Given the description of an element on the screen output the (x, y) to click on. 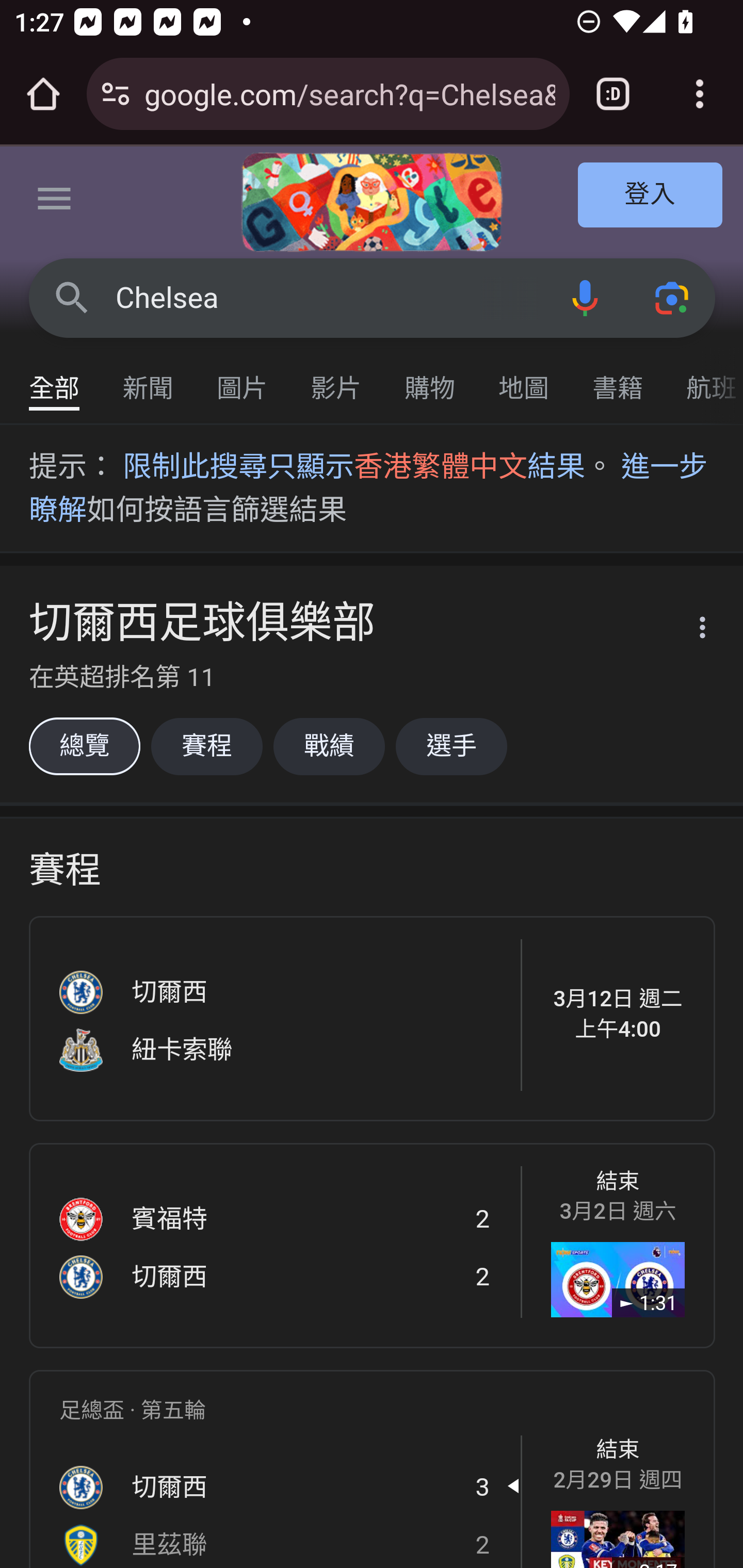
Open the home page (43, 93)
Connection is secure (115, 93)
Switch or close tabs (612, 93)
Customize and control Google Chrome (699, 93)
2024 年國際婦女節 (371, 202)
主選單 (54, 202)
登入 (650, 195)
Google 搜尋 (71, 296)
使用相機或相片搜尋 (672, 296)
Chelsea (328, 297)
新聞 (148, 378)
圖片 (242, 378)
影片 (336, 378)
購物 (430, 378)
地圖 (524, 378)
書籍 (618, 378)
航班 (703, 378)
進一步瞭解 (368, 488)
限制此搜尋只顯示香港繁體中文結果 限制此搜尋只顯示 香港繁體中文 結果 (352, 467)
更多選項 (690, 630)
總覽 (83, 746)
賽程 (206, 746)
戰績 (329, 746)
選手 (451, 746)
